Given the description of an element on the screen output the (x, y) to click on. 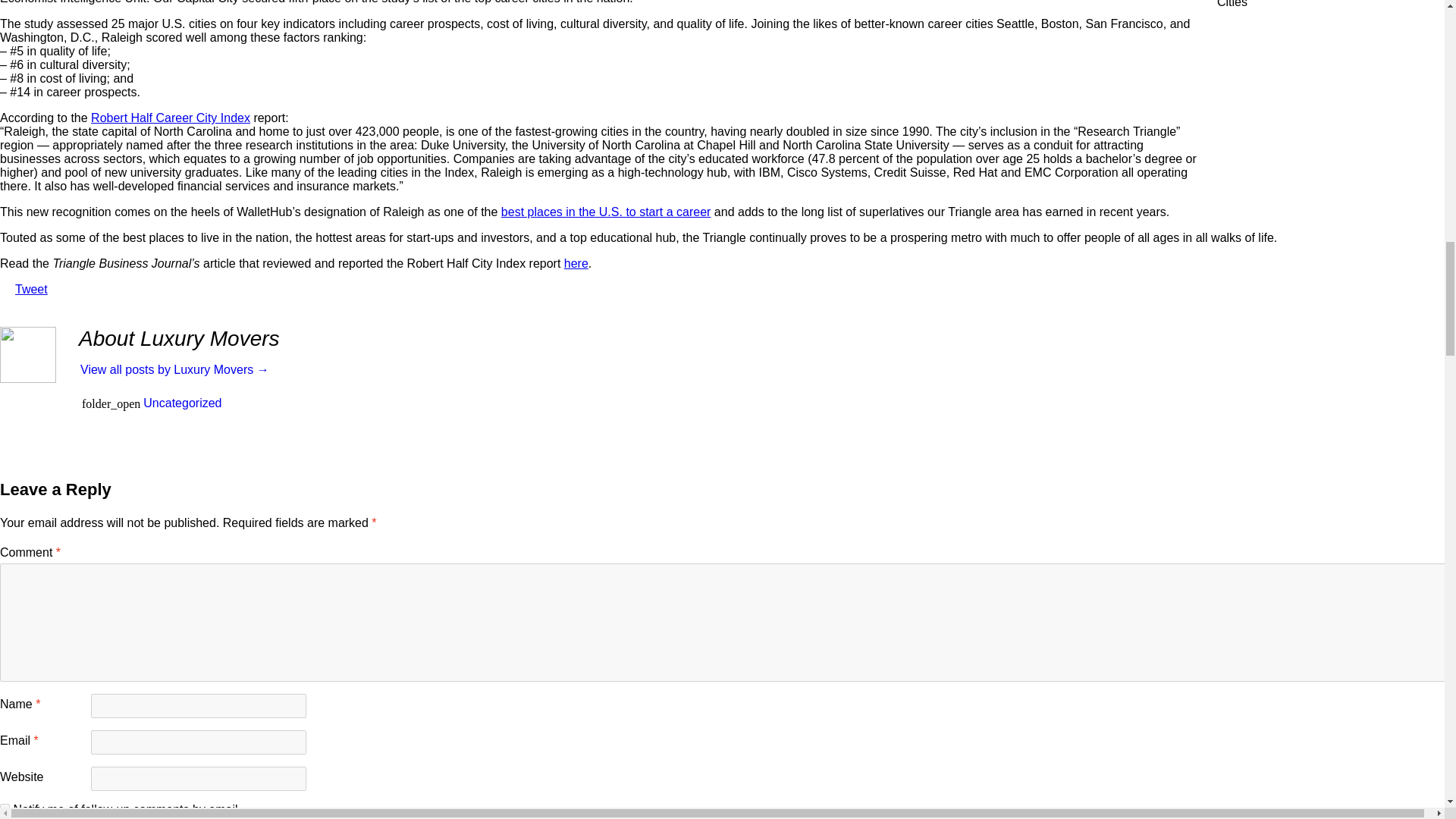
subscribe (5, 808)
